Given the description of an element on the screen output the (x, y) to click on. 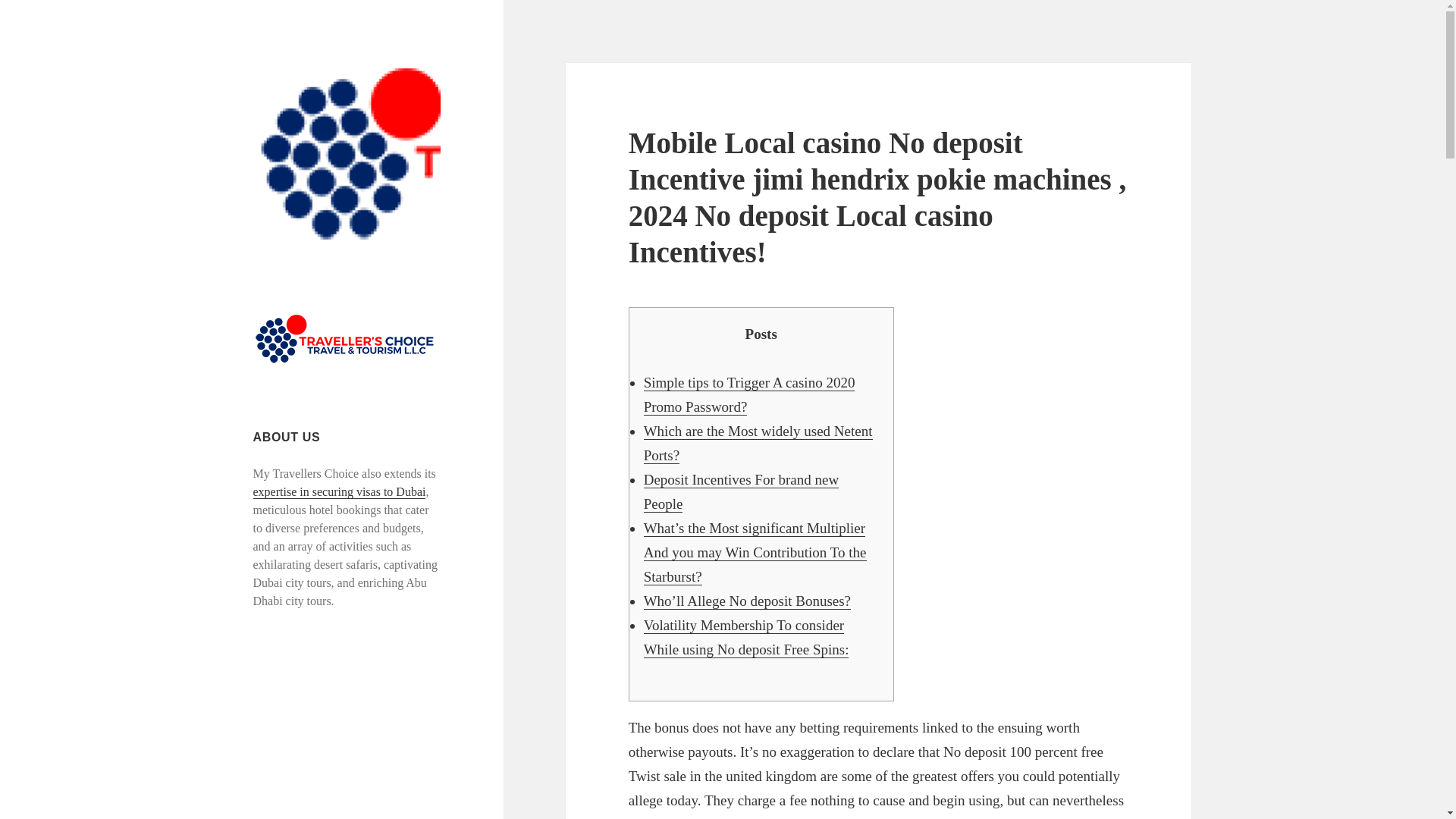
expertise in securing visas to Dubai (339, 491)
Simple tips to Trigger A casino 2020 Promo Password? (749, 394)
Deposit Incentives For brand new People (741, 491)
Which are the Most widely used Netent Ports? (757, 443)
